Given the description of an element on the screen output the (x, y) to click on. 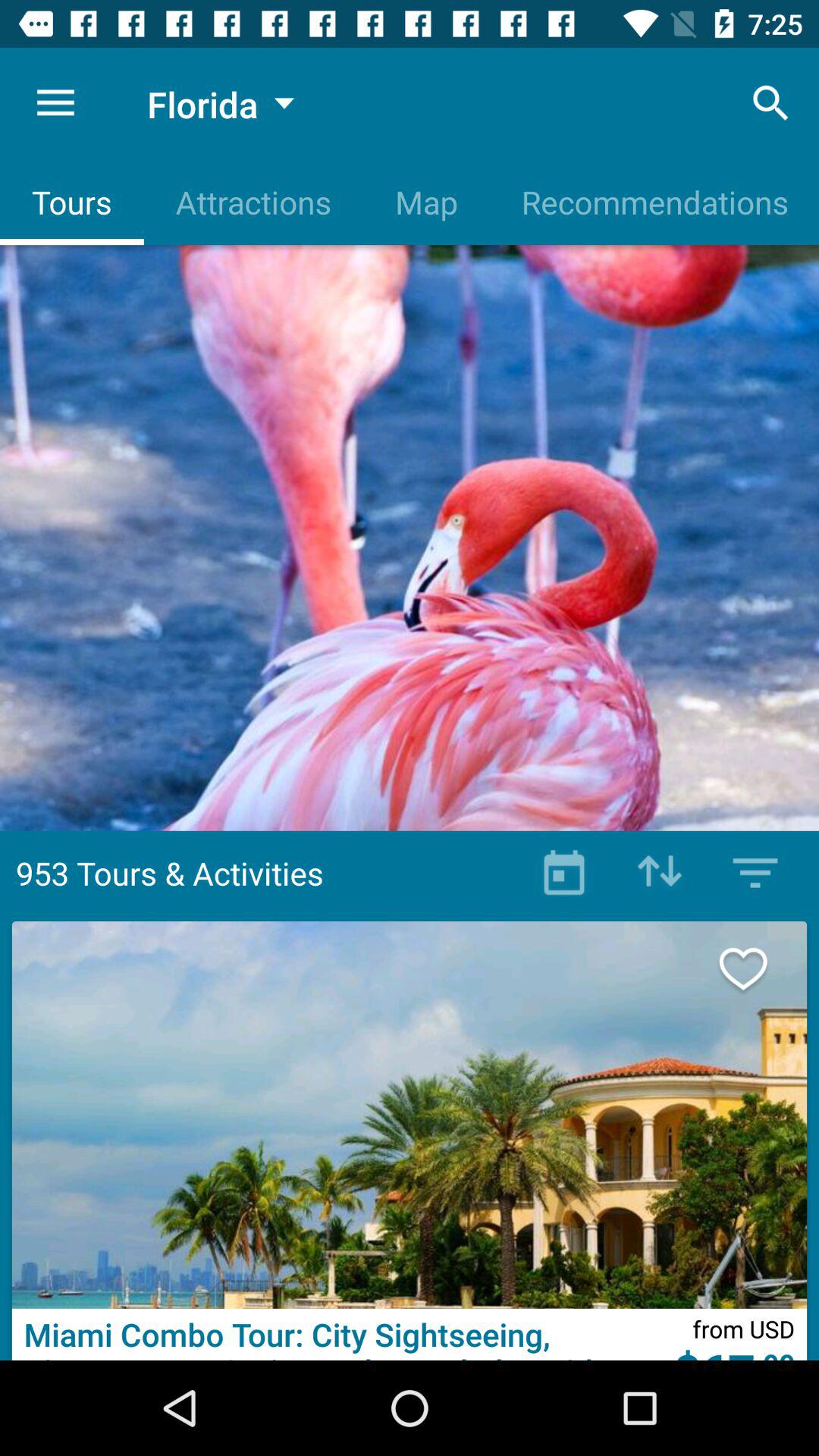
open calendar (564, 872)
